Given the description of an element on the screen output the (x, y) to click on. 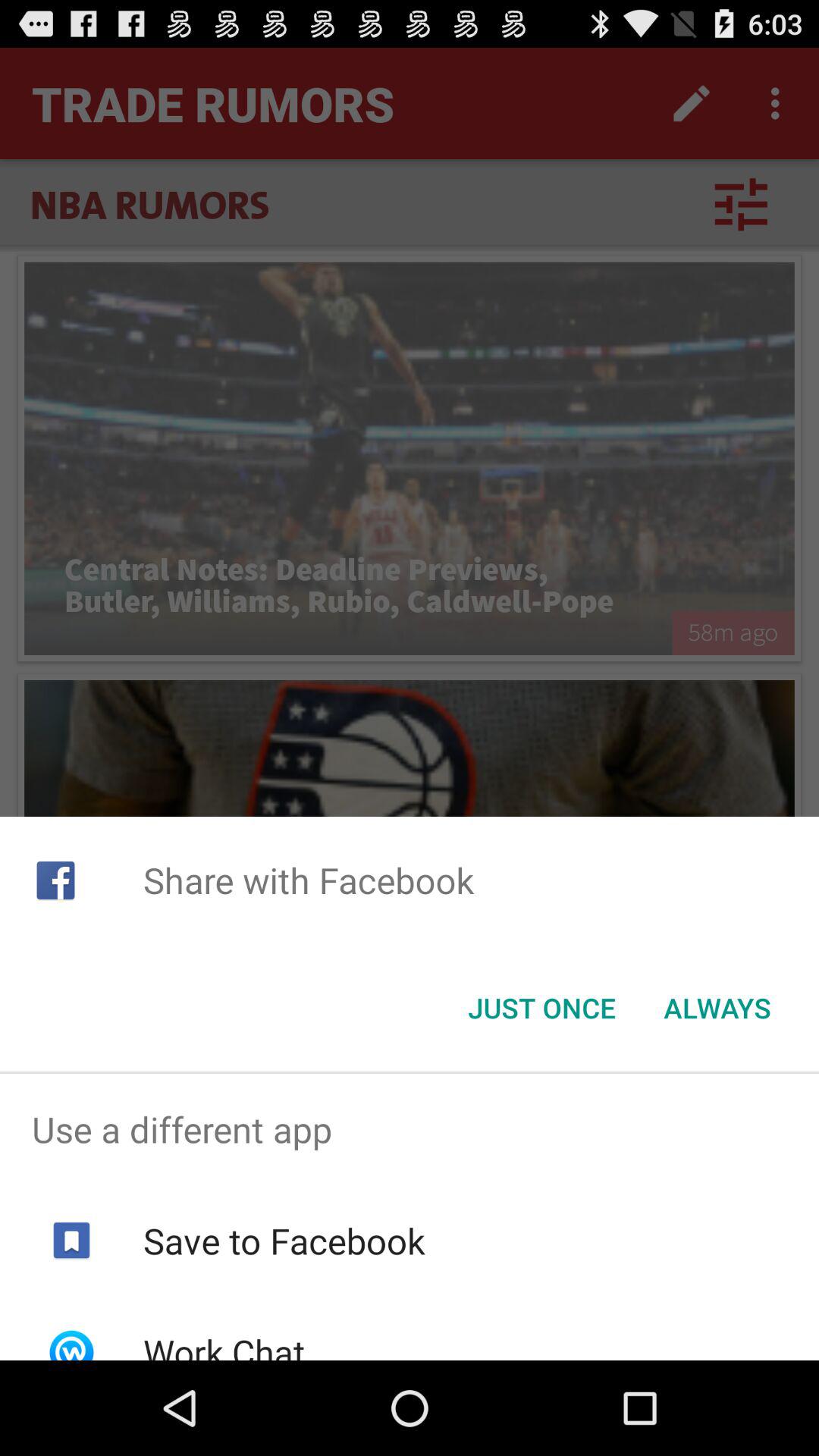
jump until use a different (409, 1129)
